Given the description of an element on the screen output the (x, y) to click on. 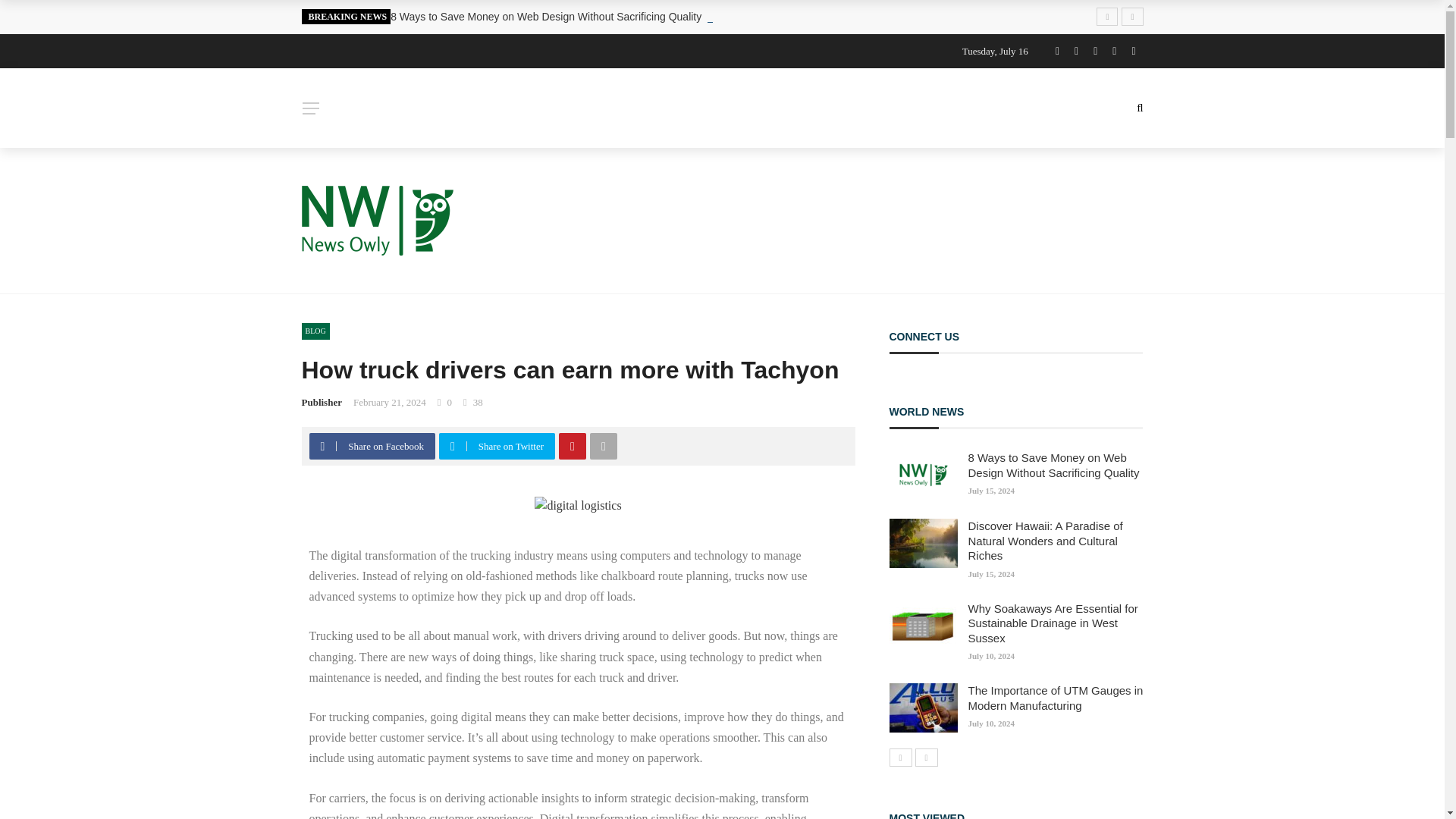
Publisher (321, 401)
Previous (899, 757)
BLOG (315, 330)
Share on Twitter (499, 446)
Next (925, 757)
Share on Facebook (373, 446)
